Given the description of an element on the screen output the (x, y) to click on. 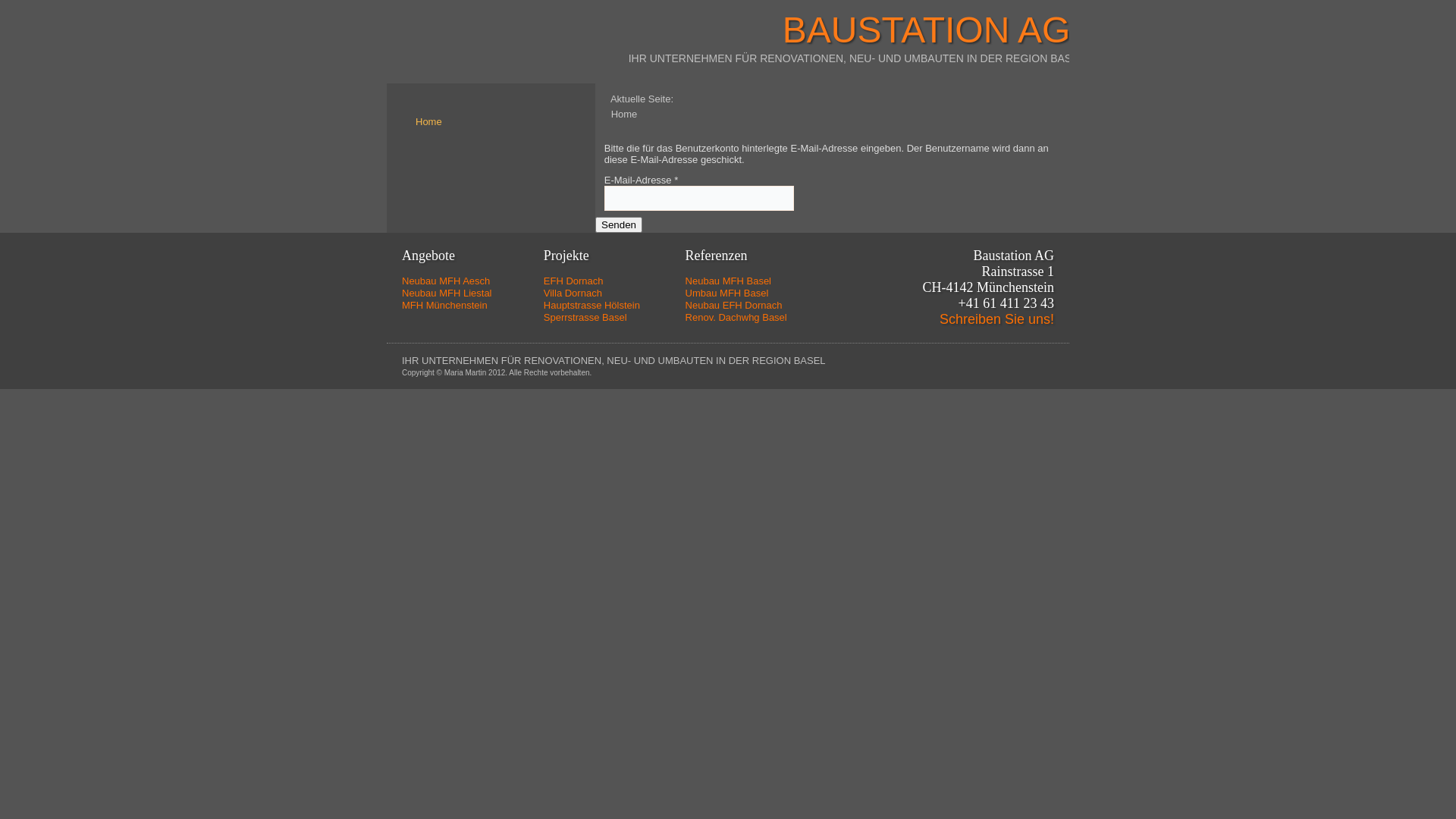
Home Element type: text (428, 121)
Renov. Dachwhg Basel Element type: text (736, 317)
Neubau MFH Basel Element type: text (728, 280)
Neubau MFH Aesch Element type: text (445, 280)
Umbau MFH Basel Element type: text (726, 292)
Villa Dornach Element type: text (572, 292)
Neubau EFH Dornach Element type: text (733, 304)
Schreiben Sie uns! Element type: text (996, 318)
Neubau MFH Liestal Element type: text (446, 292)
EFH Dornach Element type: text (573, 280)
Sperrstrasse Basel Element type: text (585, 317)
BAUSTATION AG Element type: text (926, 29)
Senden Element type: text (618, 224)
